Given the description of an element on the screen output the (x, y) to click on. 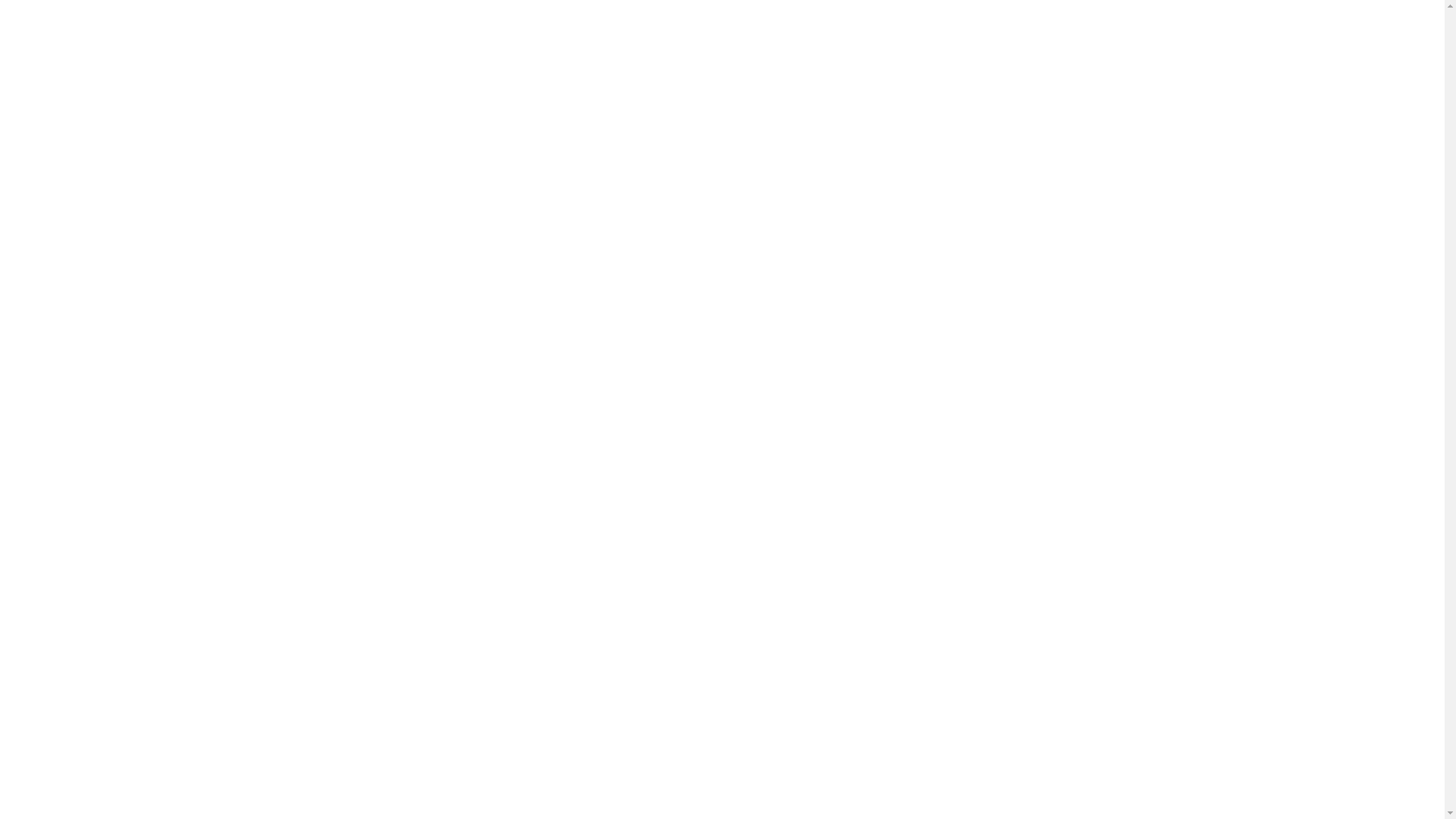
8 Figures Digital Element type: text (688, 779)
Delivery Information Element type: text (191, 779)
Home Page Element type: text (722, 588)
Home Element type: text (697, 223)
Terms & Conditions Element type: text (310, 779)
